Given the description of an element on the screen output the (x, y) to click on. 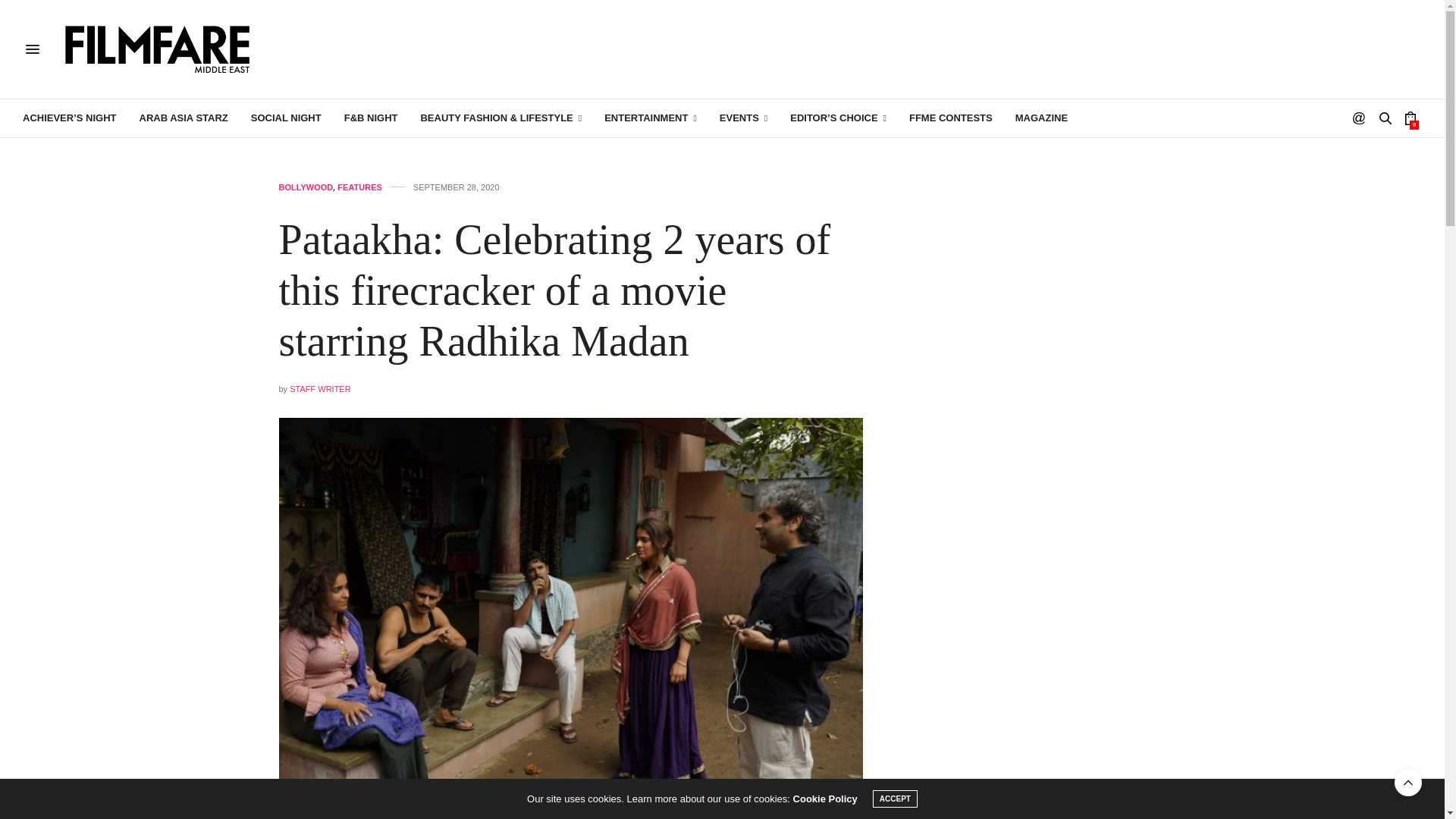
EVENTS (743, 118)
Posts by Staff Writer (319, 388)
ARAB ASIA STARZ (183, 118)
ENTERTAINMENT (650, 118)
FilmFare (158, 49)
Scroll To Top (1408, 782)
SOCIAL NIGHT (285, 118)
